Given the description of an element on the screen output the (x, y) to click on. 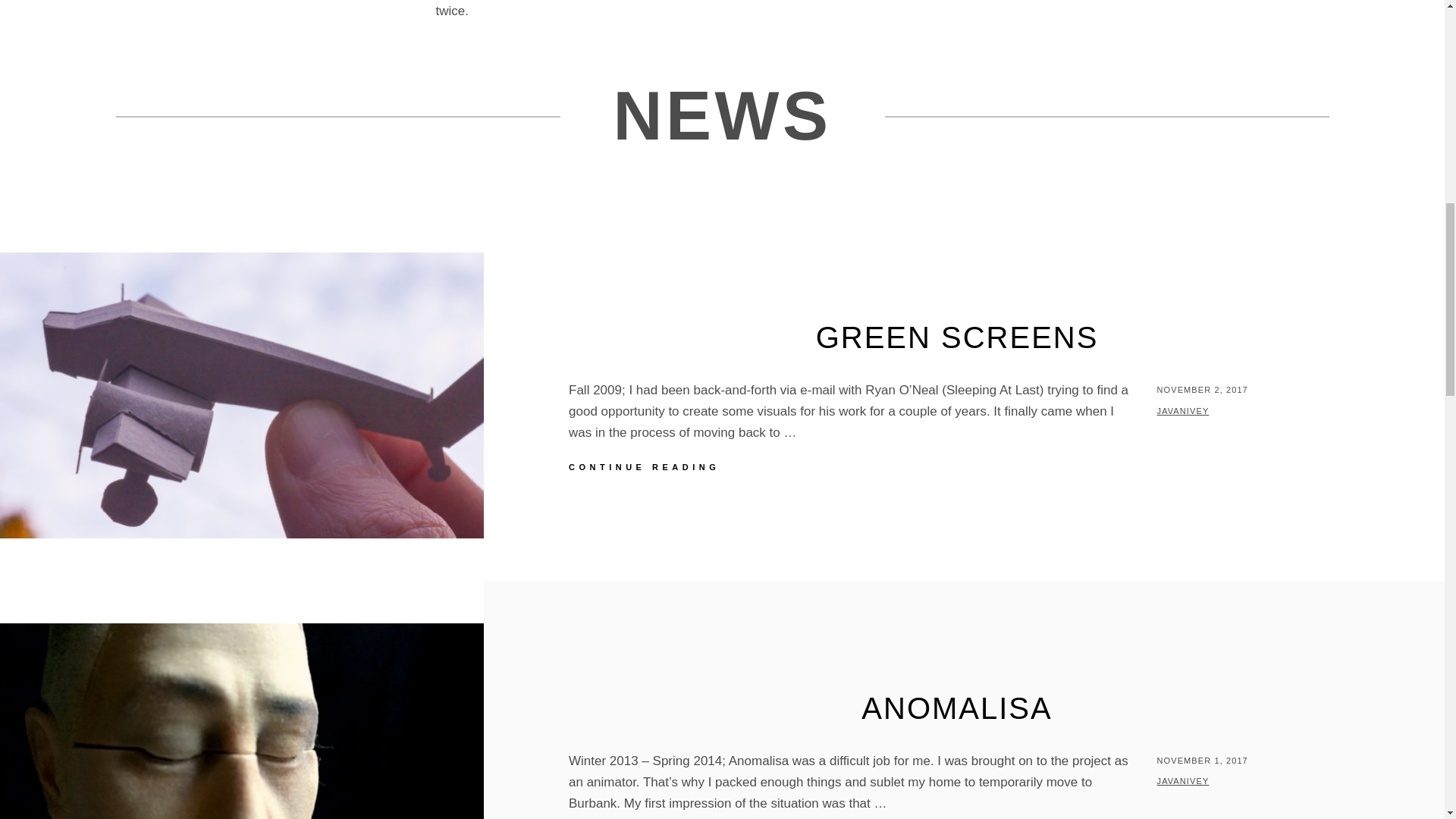
GREEN SCREENS (957, 337)
ANOMALISA (956, 707)
JAVANIVEY (1183, 780)
JAVANIVEY (852, 467)
